Given the description of an element on the screen output the (x, y) to click on. 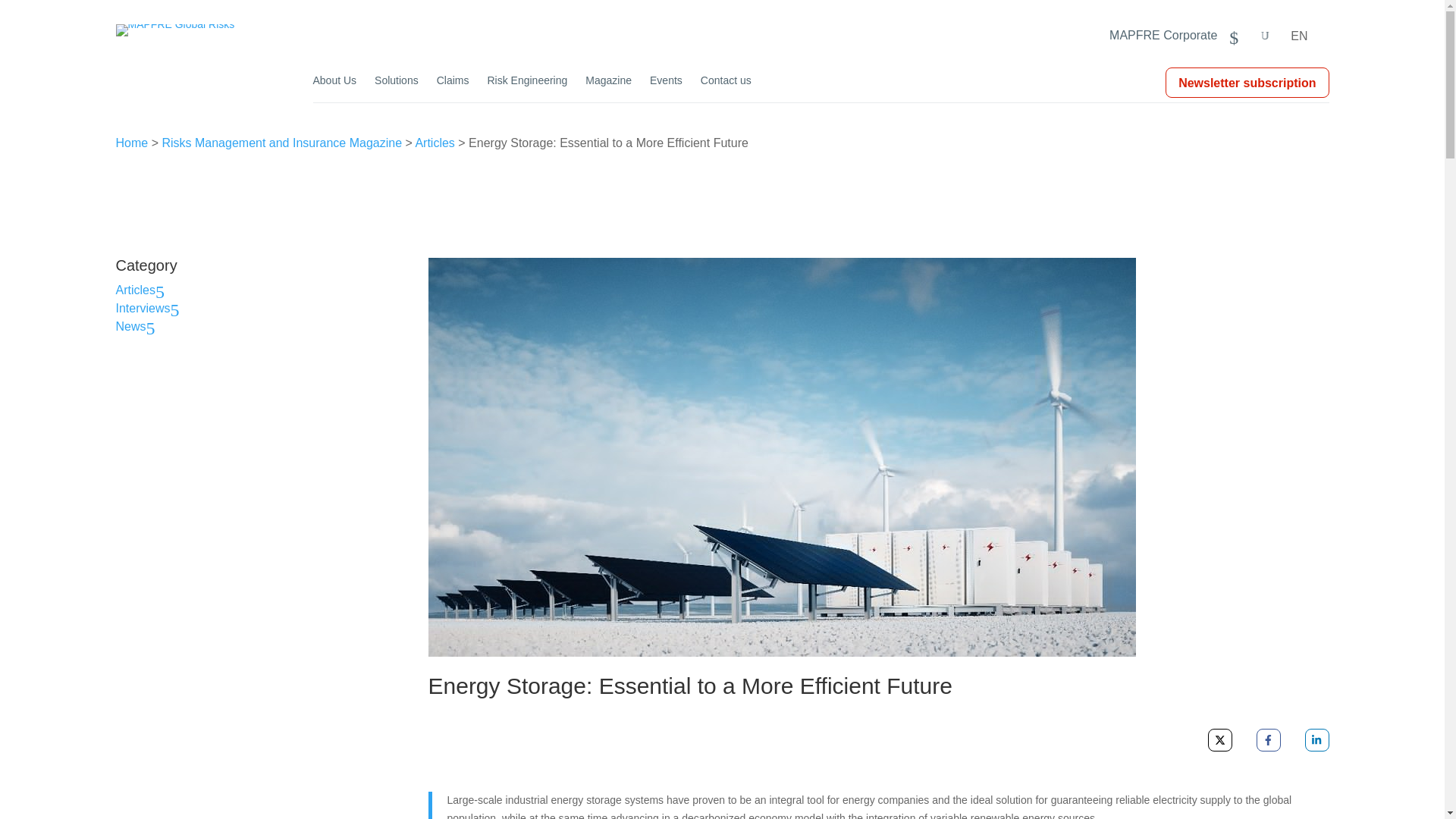
Interviews (151, 308)
Events (665, 87)
Articles (144, 289)
MAPFRE Corporate (1174, 44)
News (139, 326)
Articles (434, 142)
Magazine (608, 87)
Risks Management and Insurance Magazine (281, 142)
Risk Engineering (526, 87)
Contact us (725, 87)
Newsletter subscription (1246, 82)
Home (131, 142)
Claims (452, 87)
EN (1308, 35)
